Given the description of an element on the screen output the (x, y) to click on. 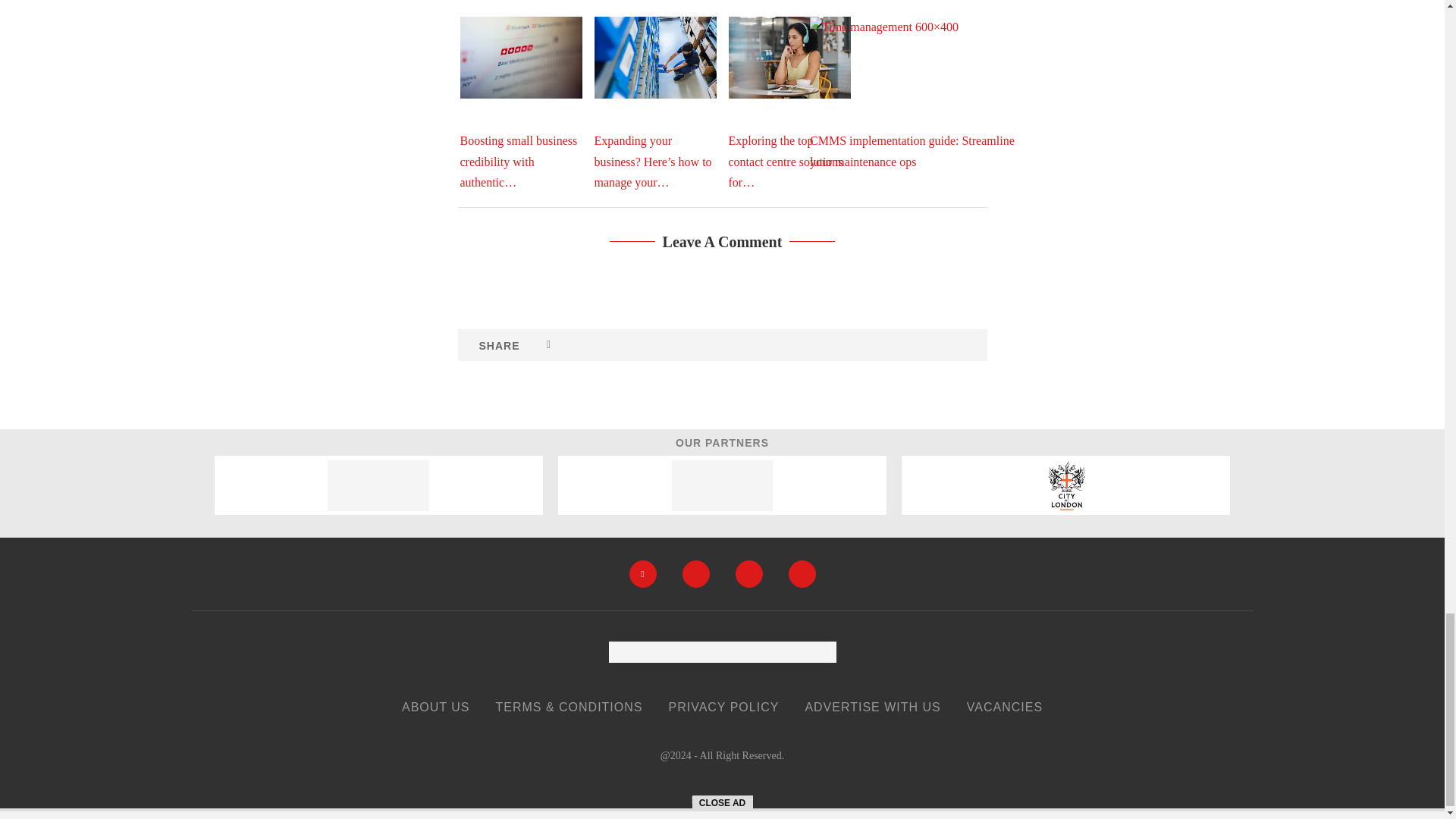
CMMS implementation guide: Streamline your maintenance ops (922, 92)
